Given the description of an element on the screen output the (x, y) to click on. 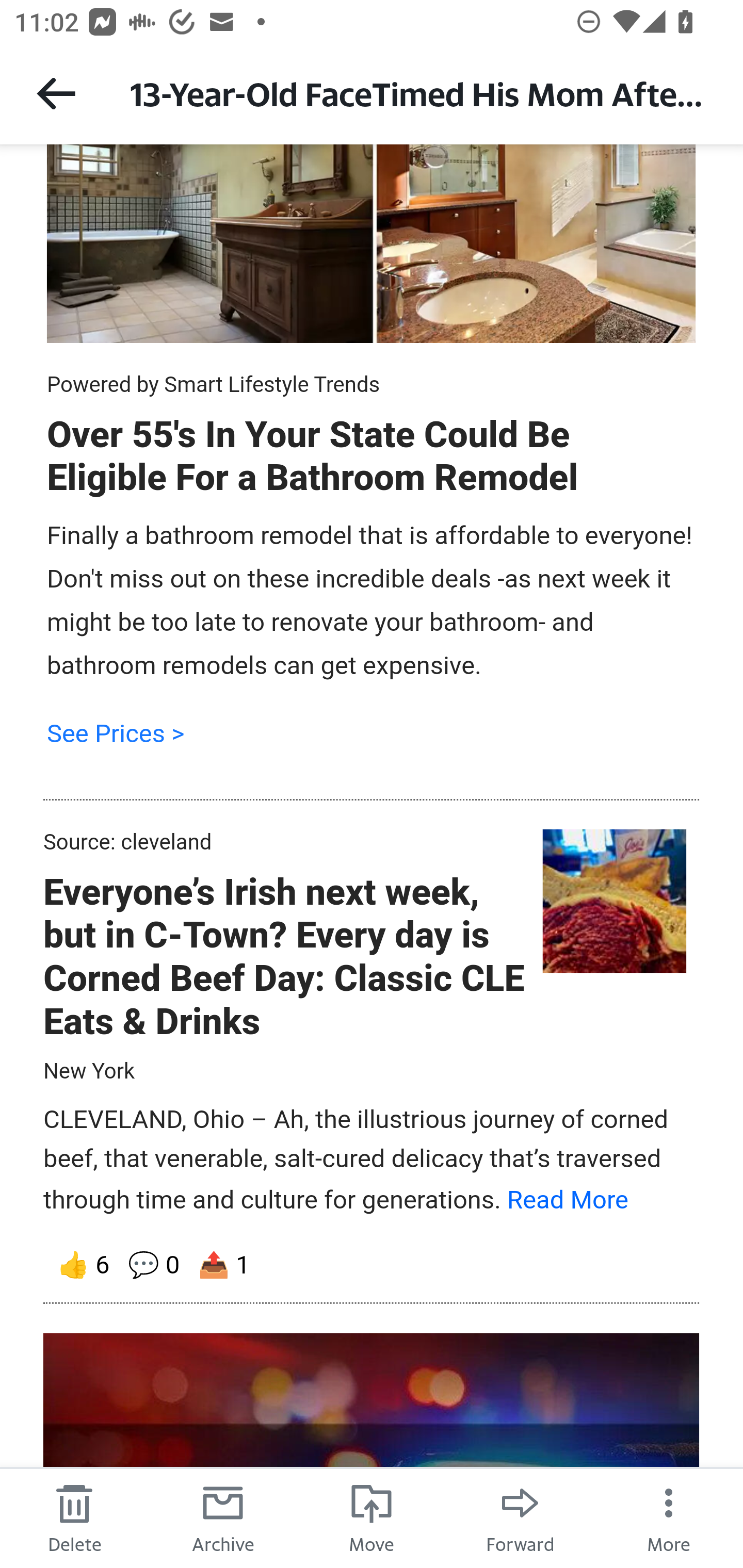
Back (55, 92)
3 local news image (371, 243)
4 local news image (613, 900)
👍 6   💬 0   📤 1 (371, 1265)
Delete (74, 1517)
Archive (222, 1517)
Move (371, 1517)
Forward (519, 1517)
More (668, 1517)
